Given the description of an element on the screen output the (x, y) to click on. 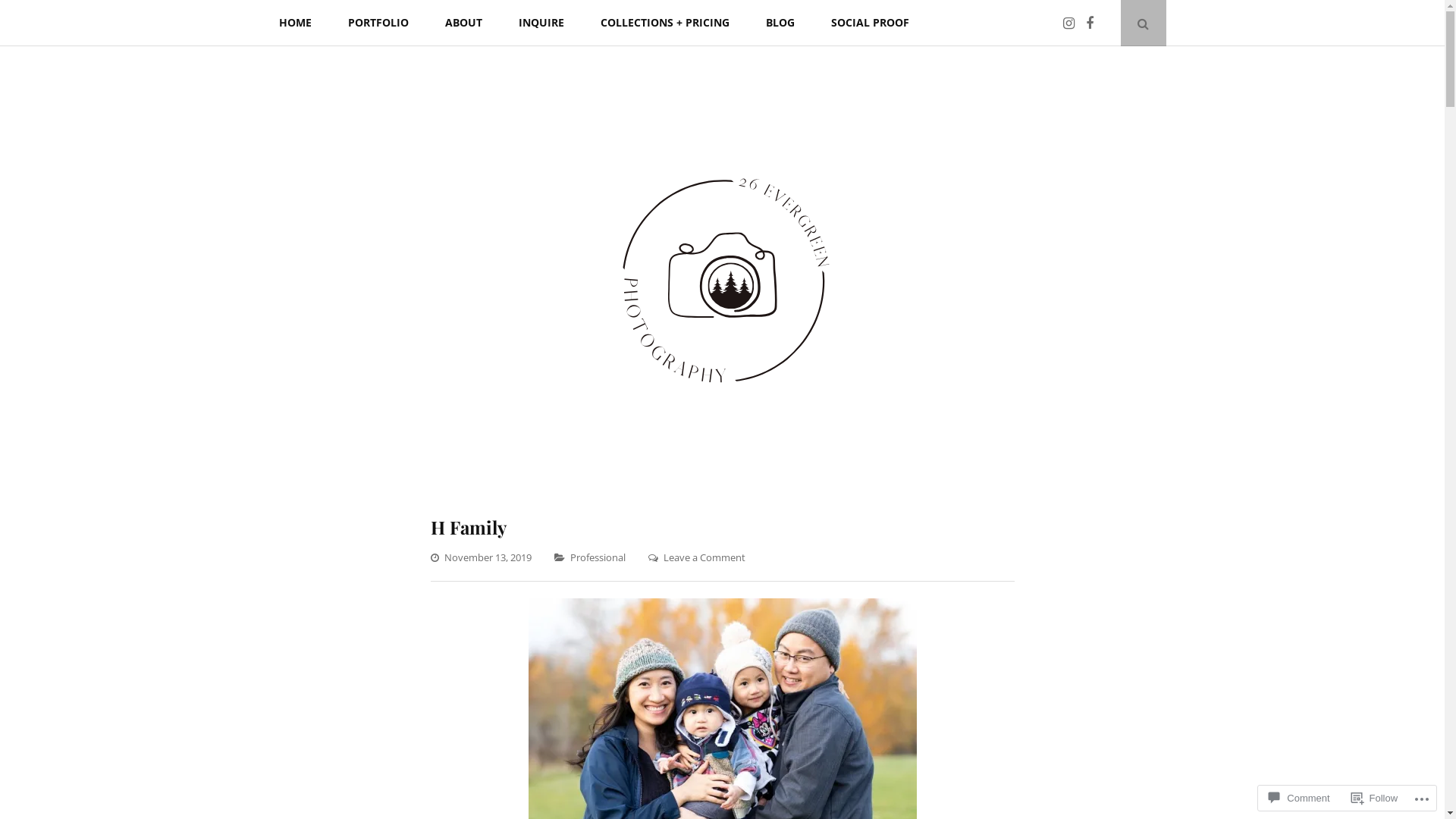
SOCIAL PROOF Element type: text (869, 22)
November 13, 2019 Element type: text (487, 557)
INQUIRE Element type: text (541, 22)
Follow Element type: text (1374, 797)
HOME Element type: text (294, 22)
Leave a Comment Element type: text (703, 557)
ABOUT Element type: text (462, 22)
Comment Element type: text (1298, 797)
PORTFOLIO Element type: text (377, 22)
Professional Element type: text (597, 557)
26 EVERGREEN PHOTOGRAPHY Element type: text (790, 504)
COLLECTIONS + PRICING Element type: text (664, 22)
BLOG Element type: text (779, 22)
